Given the description of an element on the screen output the (x, y) to click on. 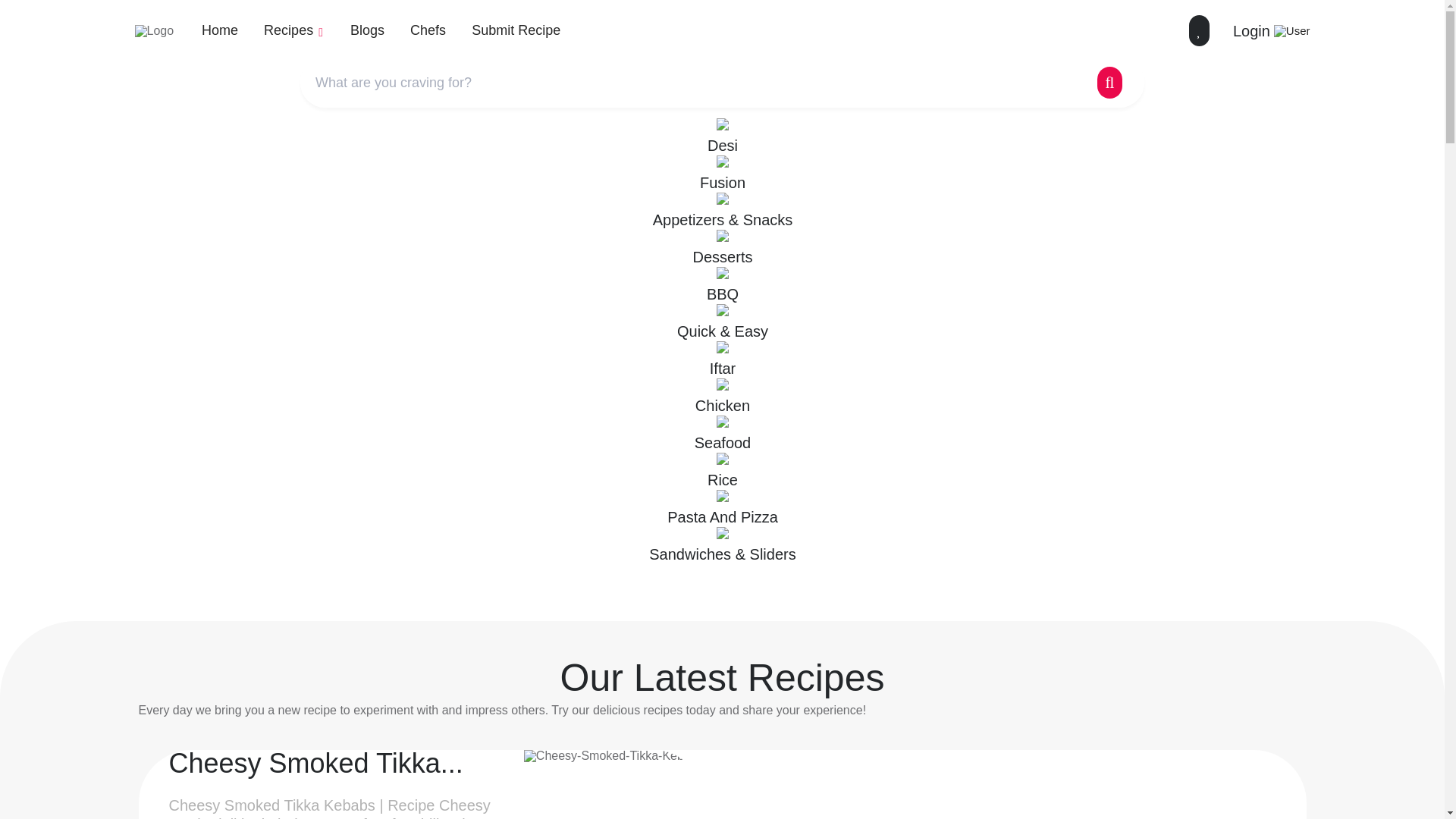
Chefs (427, 30)
Login (1271, 29)
Blogs (366, 30)
Recipes (293, 30)
Home (219, 30)
Submit Recipe (516, 30)
